Given the description of an element on the screen output the (x, y) to click on. 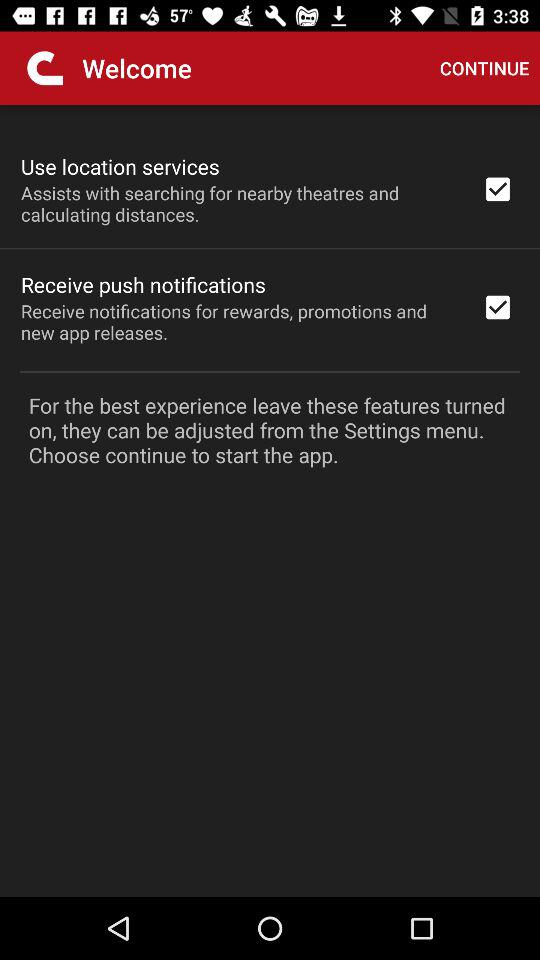
select the item below the use location services icon (238, 203)
